Given the description of an element on the screen output the (x, y) to click on. 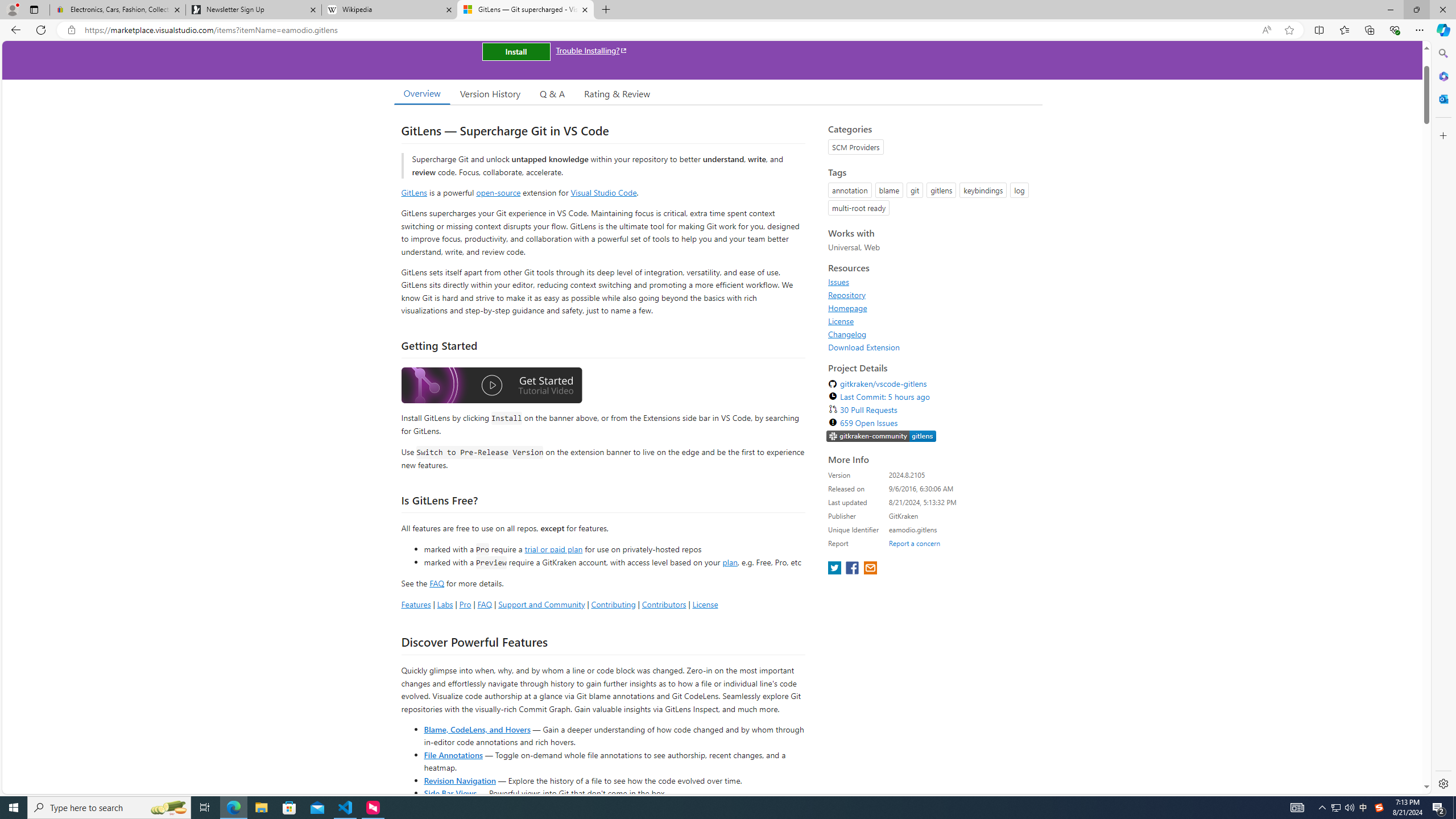
Overview (421, 92)
Revision Navigation (459, 780)
Download Extension (931, 346)
Labs (444, 603)
Newsletter Sign Up (253, 9)
https://slack.gitkraken.com// (881, 436)
share extension on email (869, 568)
License (931, 320)
plan (730, 562)
